Given the description of an element on the screen output the (x, y) to click on. 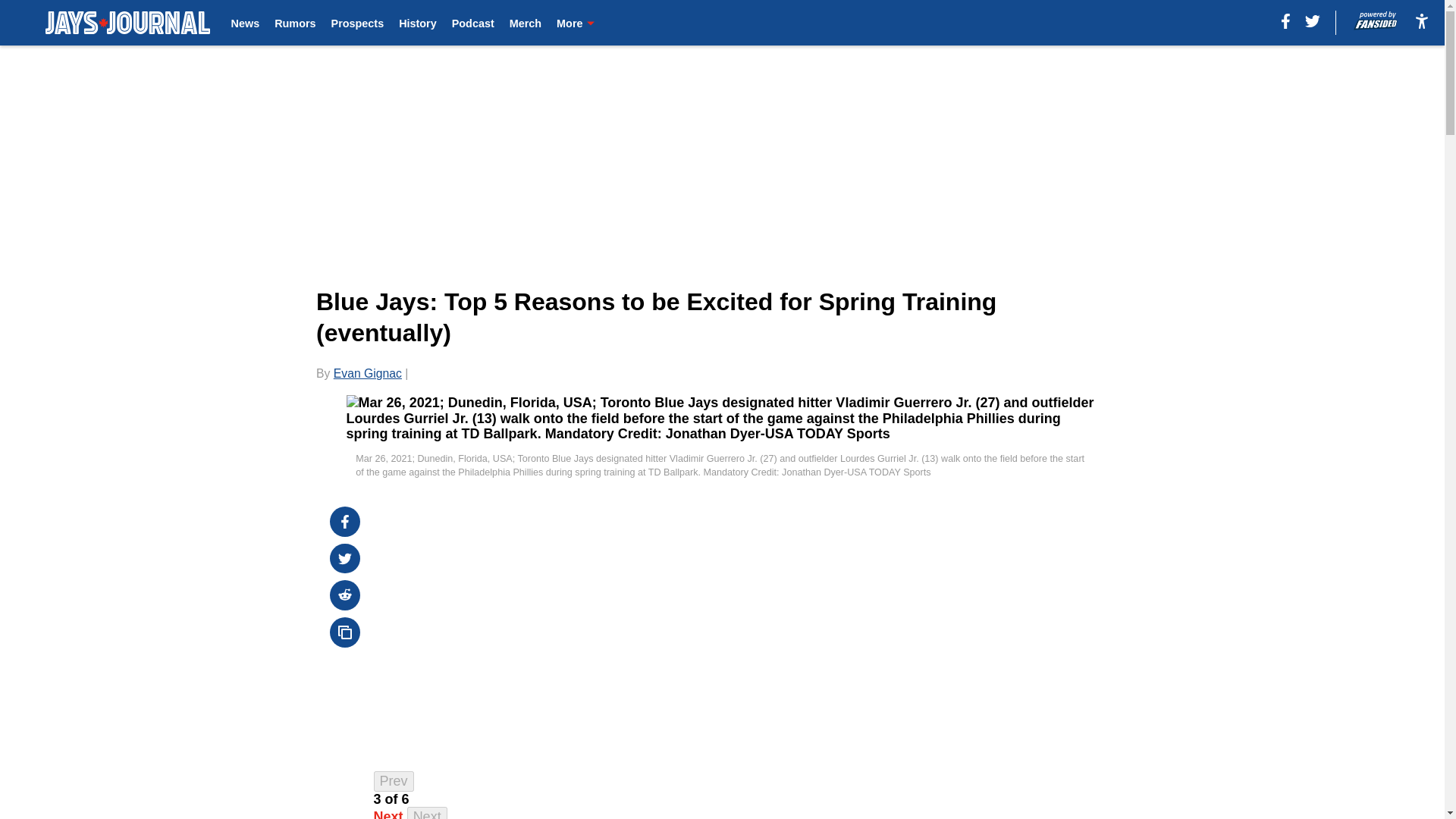
Next (388, 814)
Rumors (295, 23)
Prev (393, 781)
Merch (525, 23)
Next (426, 812)
Prospects (357, 23)
Podcast (473, 23)
History (417, 23)
Evan Gignac (367, 373)
News (245, 23)
